Given the description of an element on the screen output the (x, y) to click on. 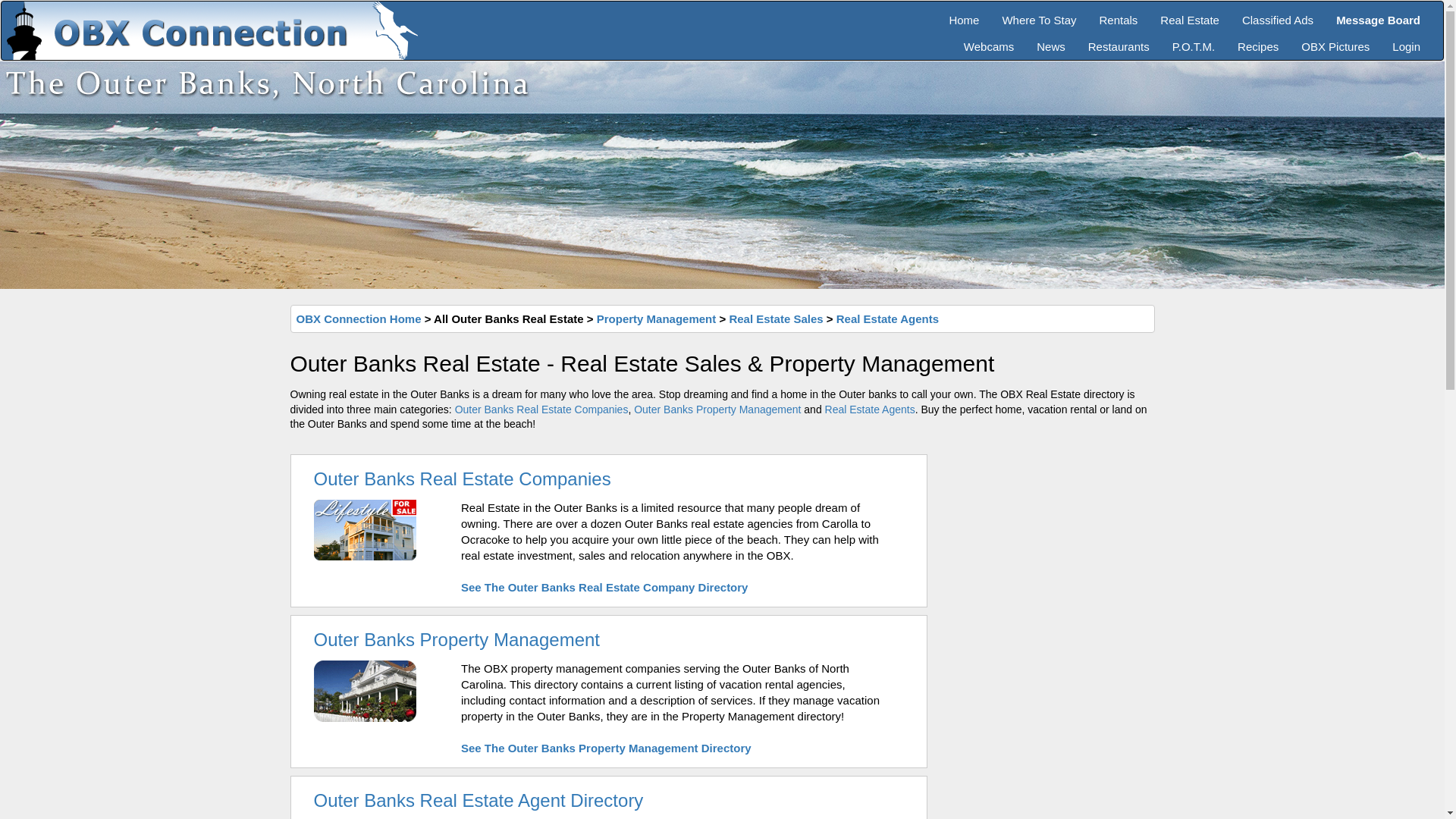
Outer Banks Real Estate Companies (462, 478)
Real Estate Agents (870, 409)
See The Outer Banks Real Estate Company Directory (604, 586)
Restaurants (1118, 40)
News (1051, 40)
Outer Banks Real Estate Companies (541, 409)
OBX Connection Home (357, 318)
See The Outer Banks Property Management Directory (606, 748)
Real Estate Sales (775, 318)
Property Management (656, 318)
Recipes (1257, 40)
OBX Pictures (1335, 40)
Message Board (1377, 14)
Outer Banks Real Estate Agent Directory (478, 800)
Login (1405, 40)
